Given the description of an element on the screen output the (x, y) to click on. 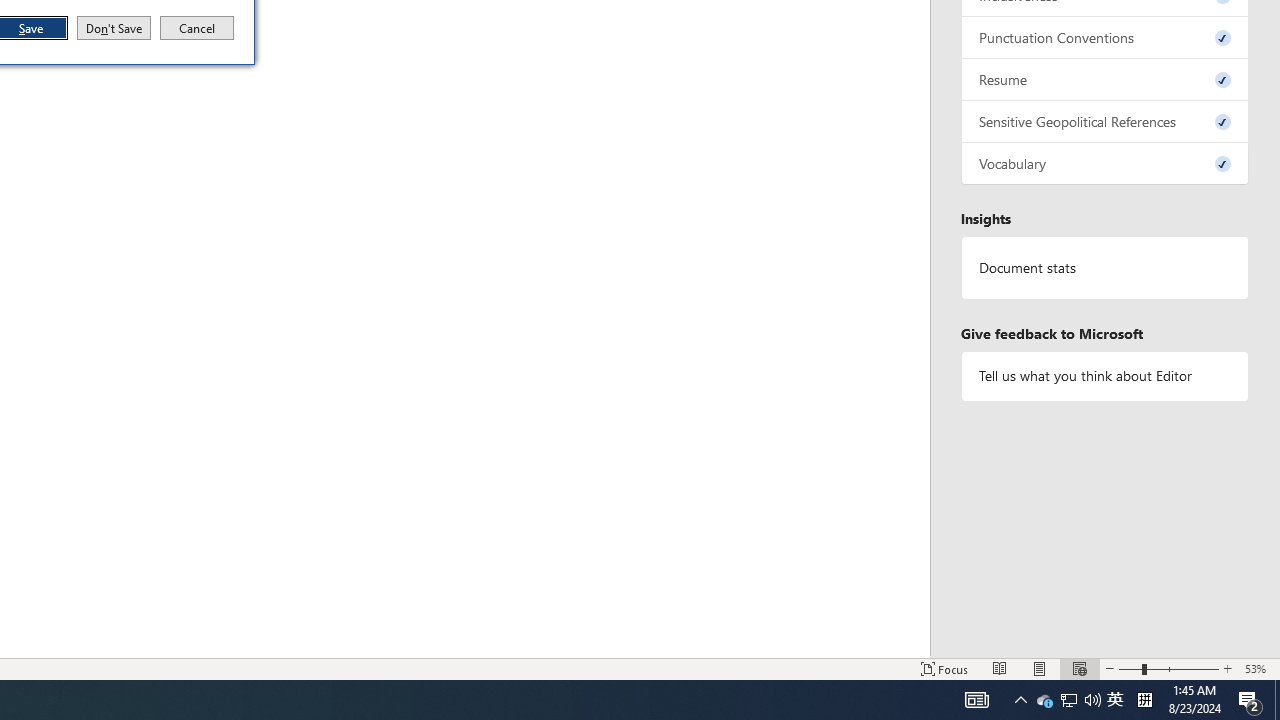
Action Center, 2 new notifications (1250, 699)
Zoom 53% (1115, 699)
Document statistics (1258, 668)
Tray Input Indicator - Chinese (Simplified, China) (1105, 267)
Focus  (1144, 699)
Zoom Out (944, 668)
Web Layout (1129, 668)
User Promoted Notification Area (1079, 668)
Show desktop (1068, 699)
